Given the description of an element on the screen output the (x, y) to click on. 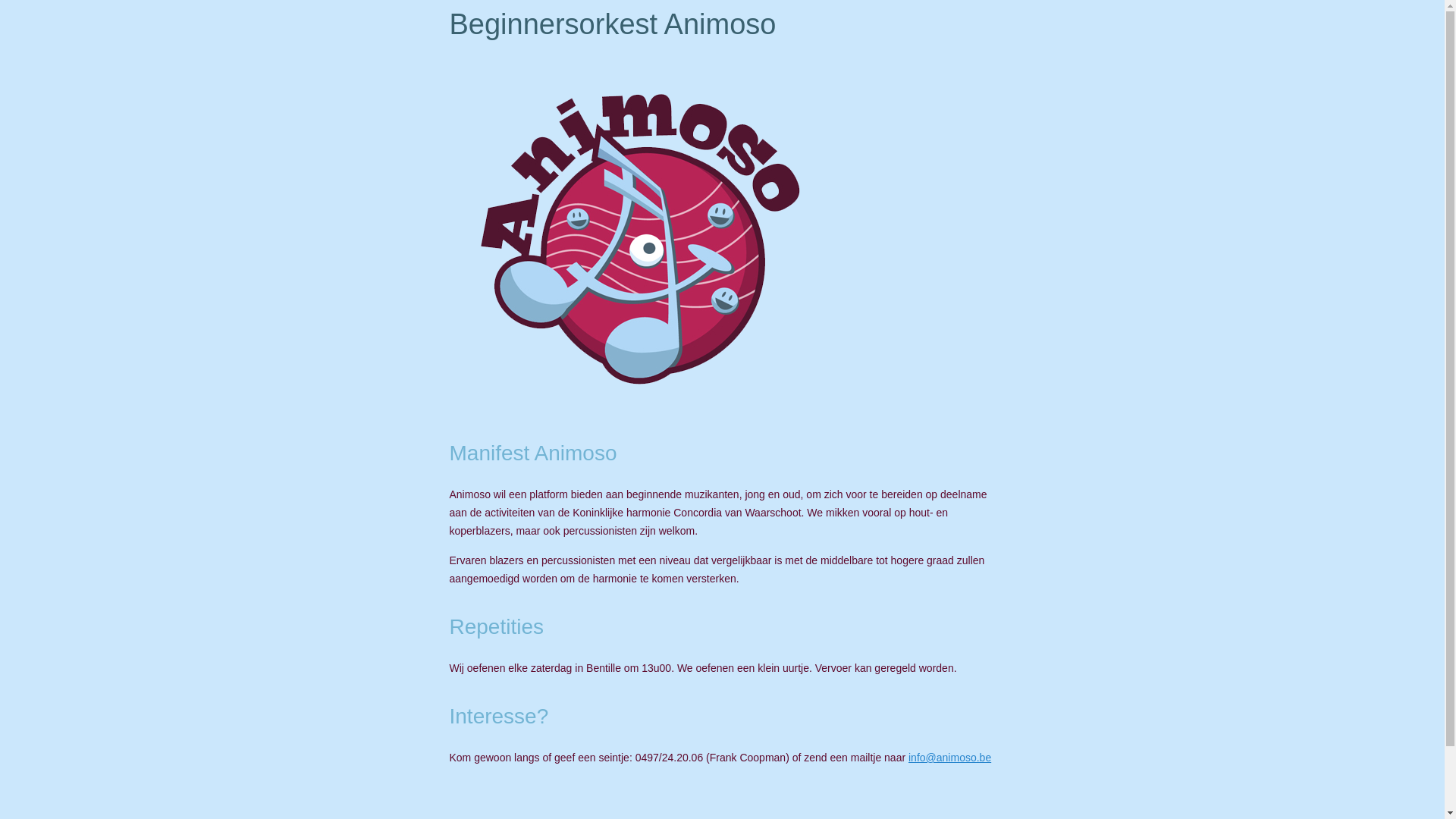
info@animoso.be Element type: text (949, 757)
Beginnersorkest Animoso Element type: hover (638, 235)
